Given the description of an element on the screen output the (x, y) to click on. 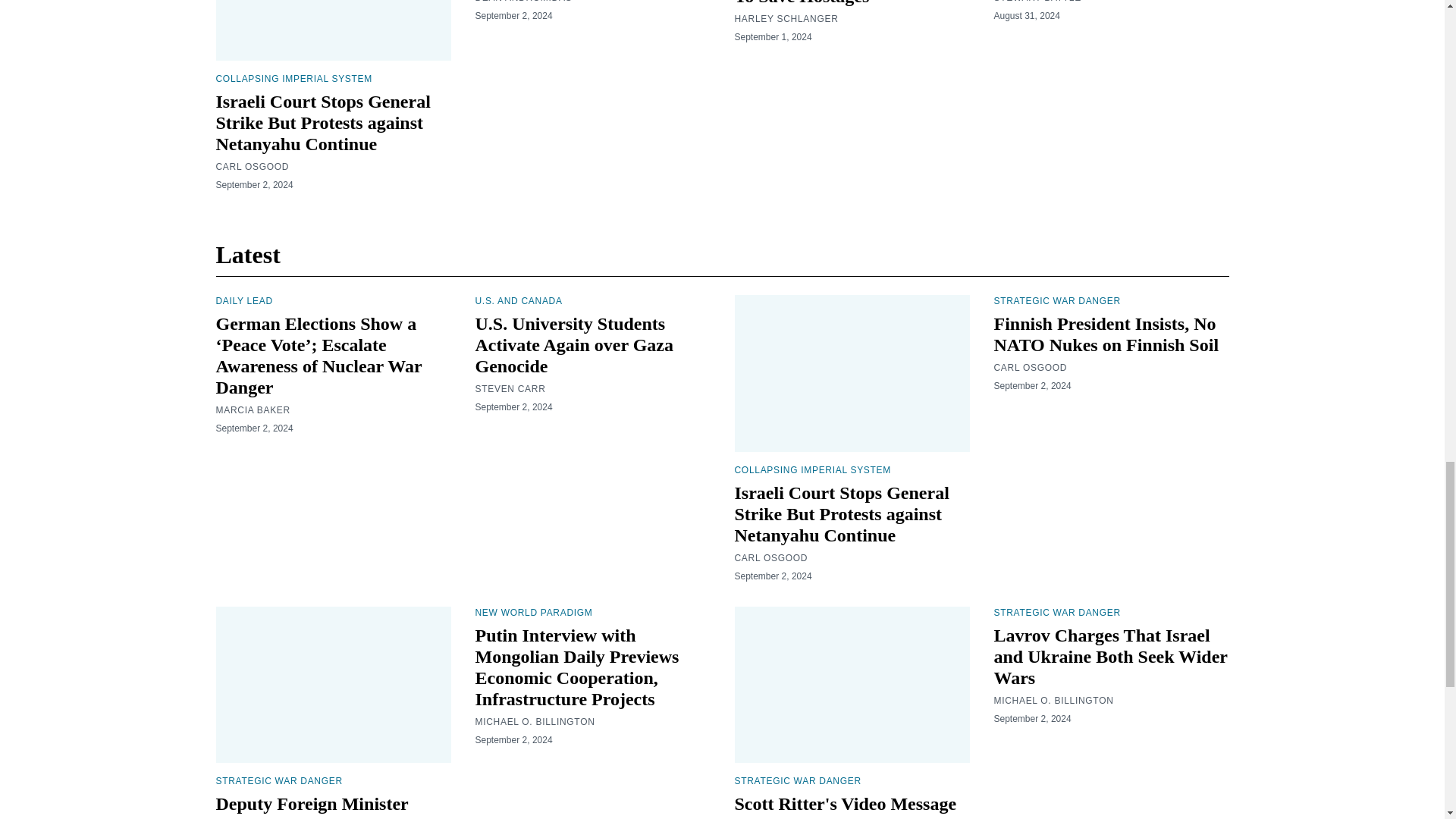
U.S. AND CANADA (518, 300)
STEWART BATTLE (1036, 2)
MARCIA BAKER (252, 410)
COLLAPSING IMPERIAL SYSTEM (293, 78)
DEAN ANDROMIDAS (523, 2)
CARL OSGOOD (251, 166)
DAILY LEAD (243, 300)
HARLEY SCHLANGER (785, 19)
